Given the description of an element on the screen output the (x, y) to click on. 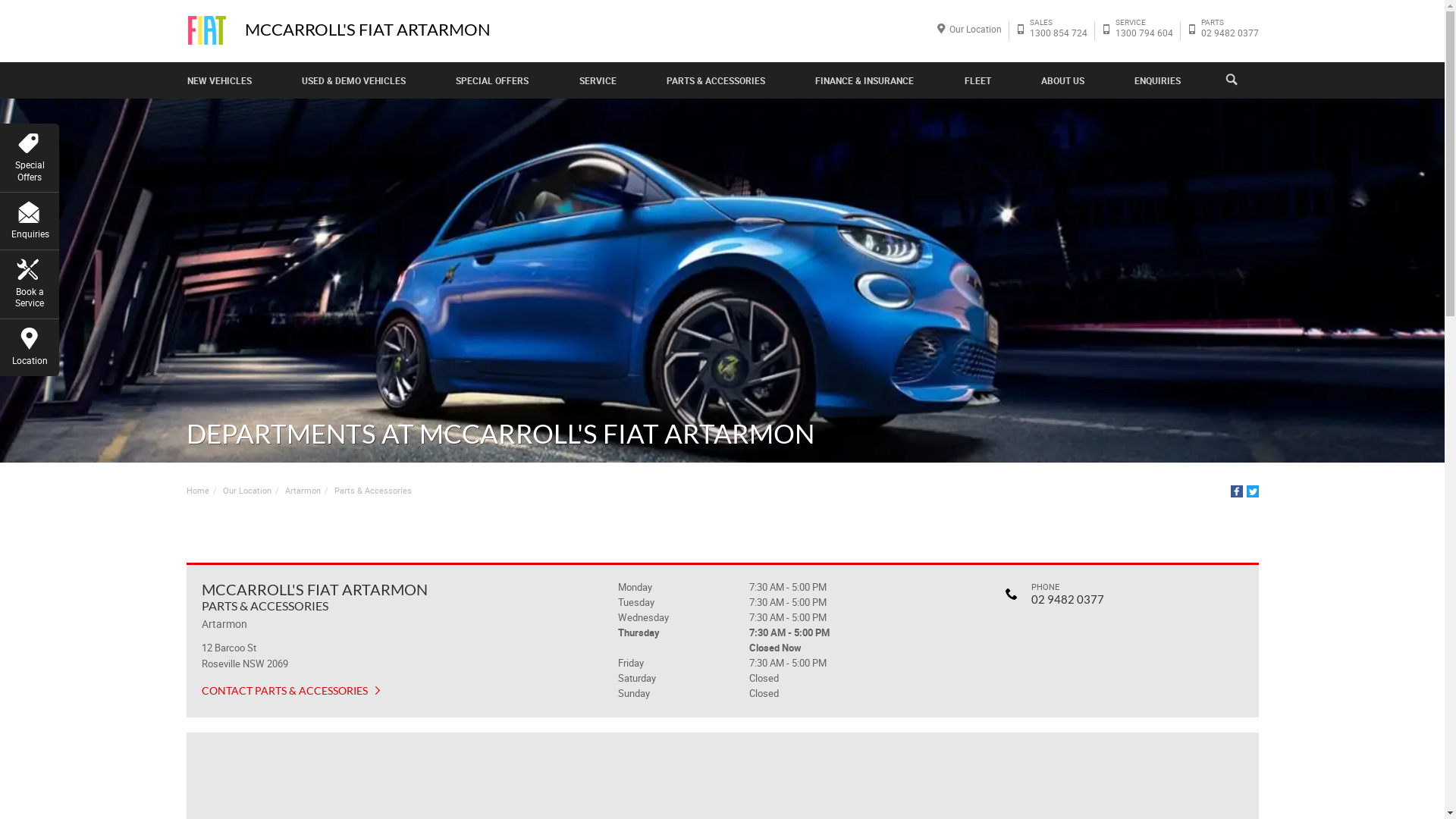
Home Element type: text (197, 490)
SALES
1300 854 724 Element type: text (1057, 30)
SERVICE Element type: text (597, 80)
Twitter Element type: hover (1252, 491)
02 9482 0377 Element type: text (1067, 598)
FINANCE & INSURANCE Element type: text (864, 80)
PARTS
02 9482 0377 Element type: text (1228, 30)
PARTS & ACCESSORIES Element type: text (715, 80)
ENQUIRIES Element type: text (1157, 80)
SERVICE
1300 794 604 Element type: text (1143, 30)
NEW VEHICLES Element type: text (219, 80)
Our Location Element type: text (246, 490)
Our Location Element type: text (974, 28)
MCCARROLL'S FIAT ARTARMON Element type: text (366, 29)
Facebook Element type: hover (1236, 491)
Enquiries Element type: text (29, 218)
ABOUT US Element type: text (1062, 80)
McCarroll's Fiat Artarmon Element type: hover (206, 30)
Book a Service Element type: text (29, 281)
SPECIAL OFFERS Element type: text (491, 80)
Location Element type: text (29, 345)
Artarmon Element type: text (302, 490)
SEARCH Element type: text (1239, 80)
FLEET Element type: text (977, 80)
Parts & Accessories Element type: text (372, 490)
Special Offers Element type: text (29, 154)
CONTACT PARTS & ACCESSORIES Element type: text (290, 690)
USED & DEMO VEHICLES Element type: text (353, 80)
